Given the description of an element on the screen output the (x, y) to click on. 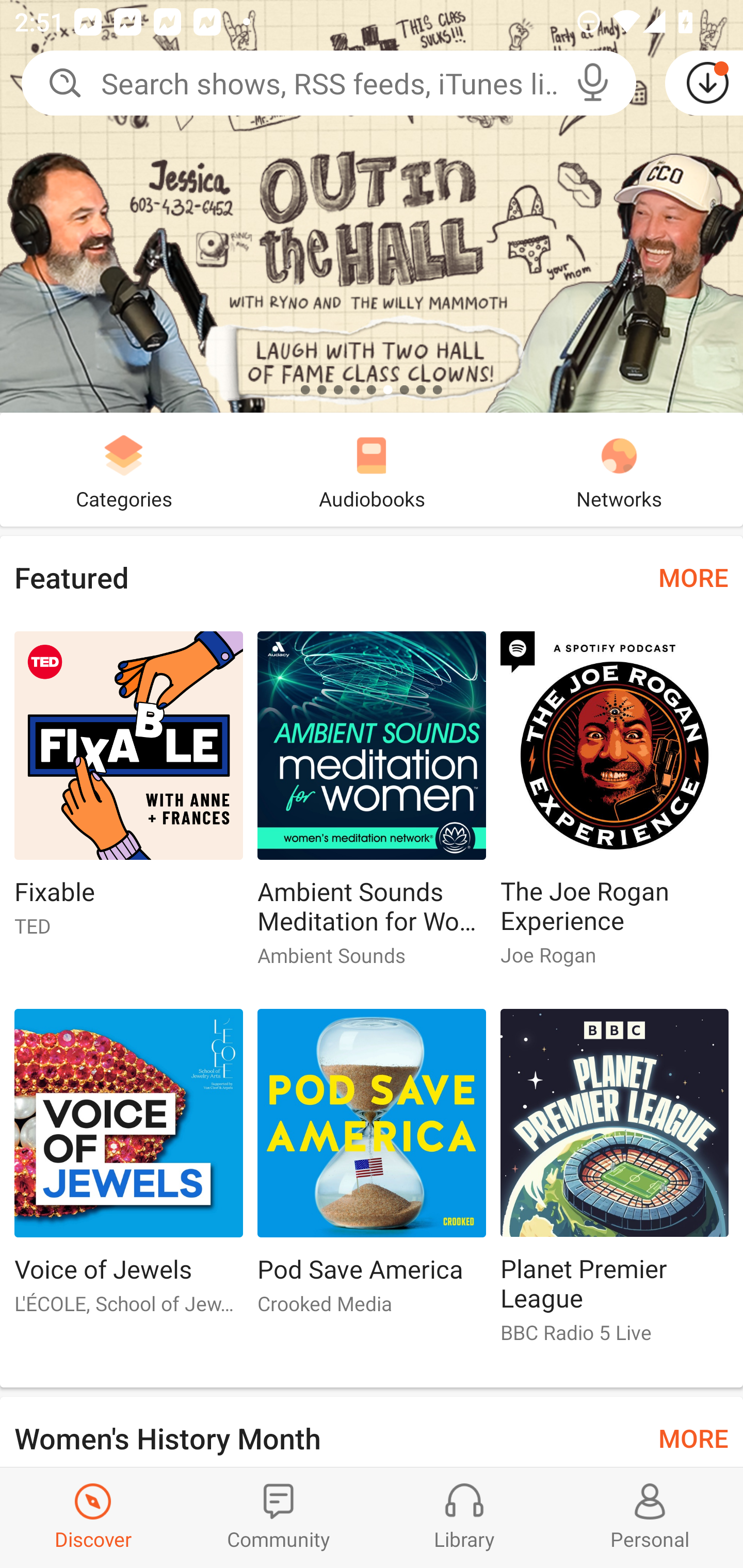
Out In The Hall with Ryno and The Willy Mammoth (371, 206)
Categories (123, 469)
Audiobooks (371, 469)
Networks (619, 469)
MORE (693, 576)
Fixable Fixable TED (128, 792)
Pod Save America Pod Save America Crooked Media (371, 1169)
MORE (693, 1436)
Discover (92, 1517)
Community (278, 1517)
Library (464, 1517)
Profiles and Settings Personal (650, 1517)
